Given the description of an element on the screen output the (x, y) to click on. 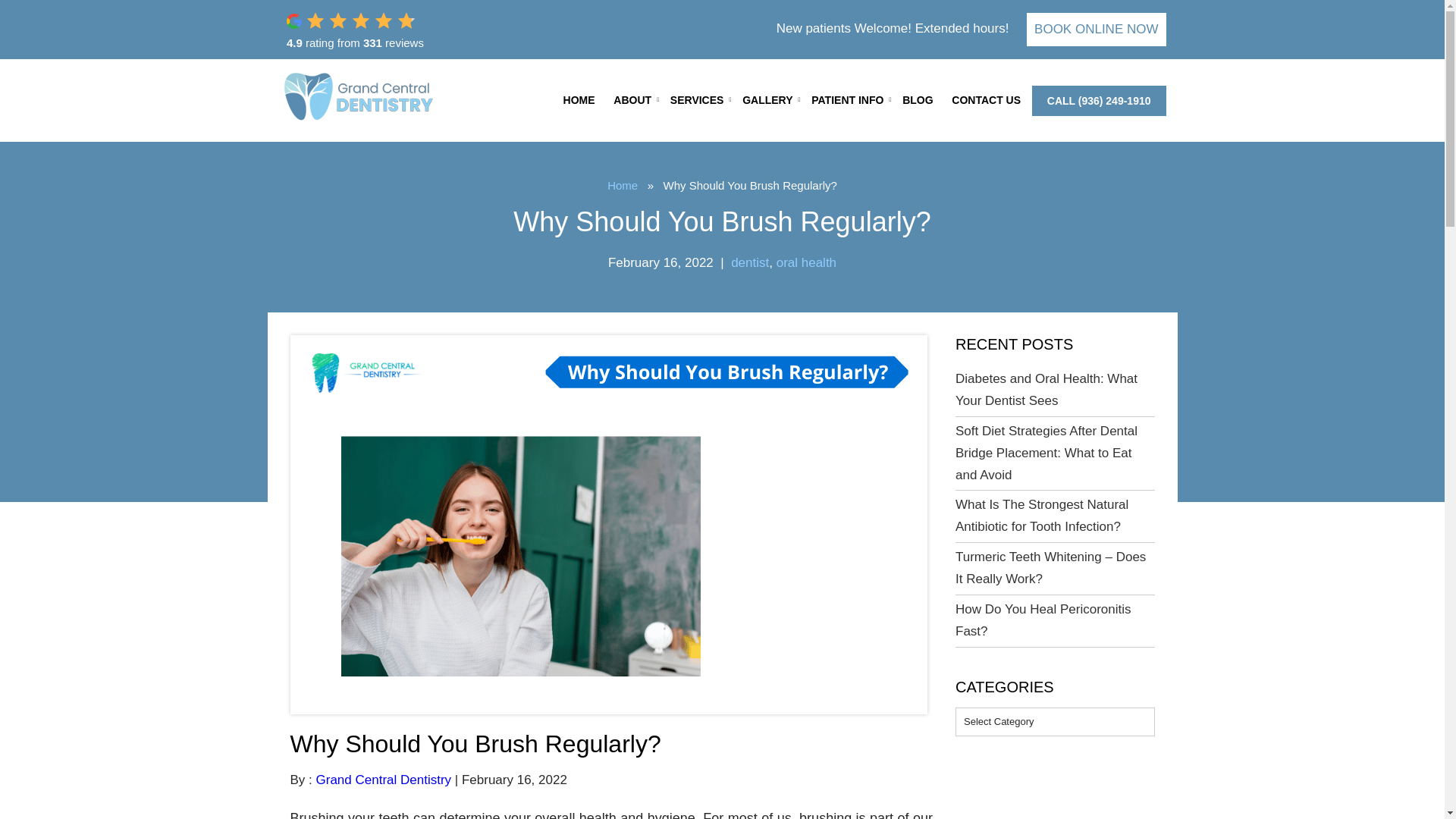
GALLERY (767, 99)
EmbedSocial Universal Widget (392, 29)
Posts by Grand Central Dentistry (383, 780)
ABOUT (632, 99)
SERVICES (697, 99)
BLOG (917, 99)
CONTACT US (985, 99)
BOOK ONLINE NOW (1096, 29)
HOME (579, 99)
PATIENT INFO (847, 99)
